Given the description of an element on the screen output the (x, y) to click on. 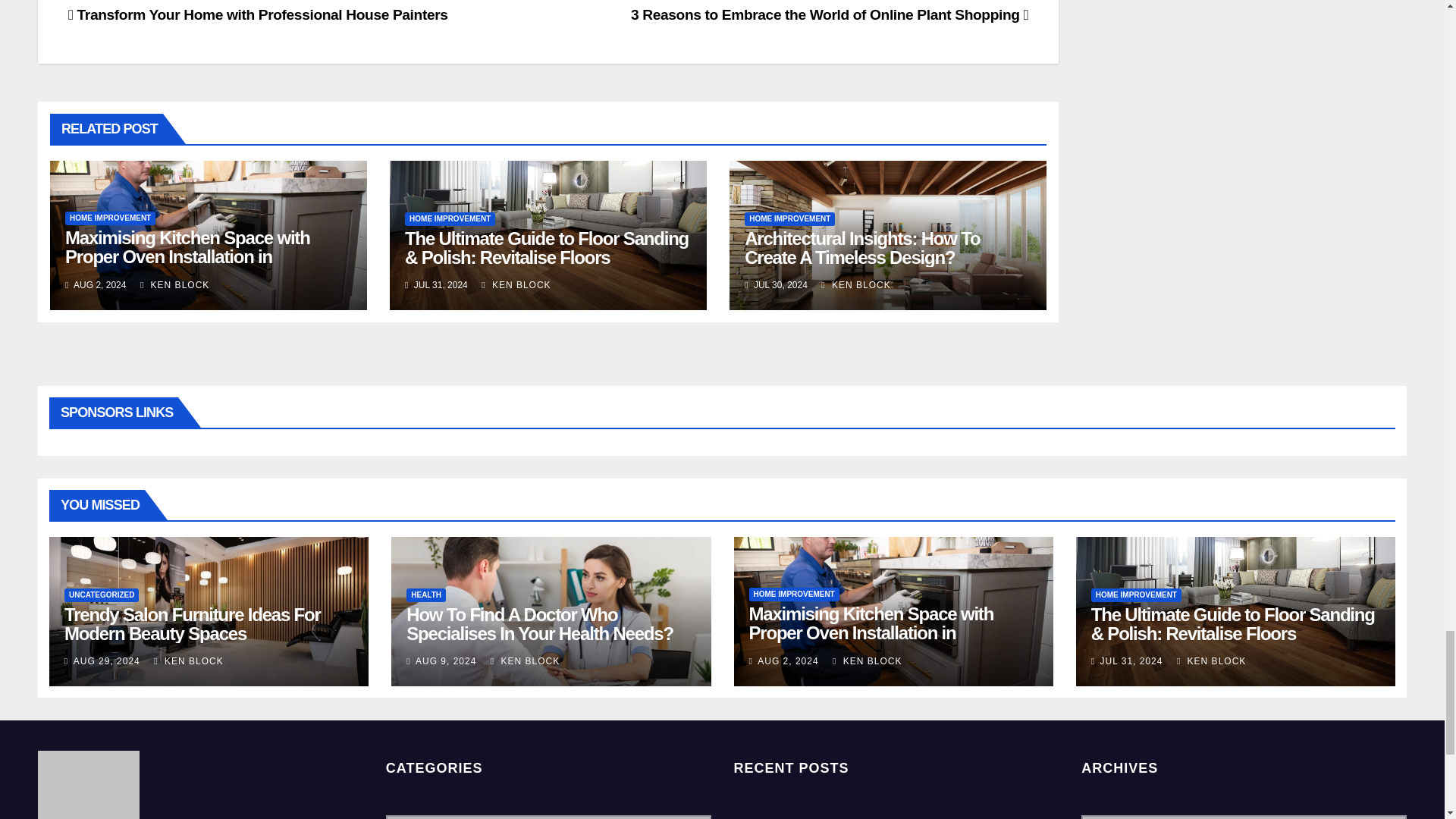
KEN BLOCK (174, 285)
HOME IMPROVEMENT (110, 218)
HOME IMPROVEMENT (449, 219)
Transform Your Home with Professional House Painters (258, 14)
3 Reasons to Embrace the World of Online Plant Shopping (828, 14)
